Given the description of an element on the screen output the (x, y) to click on. 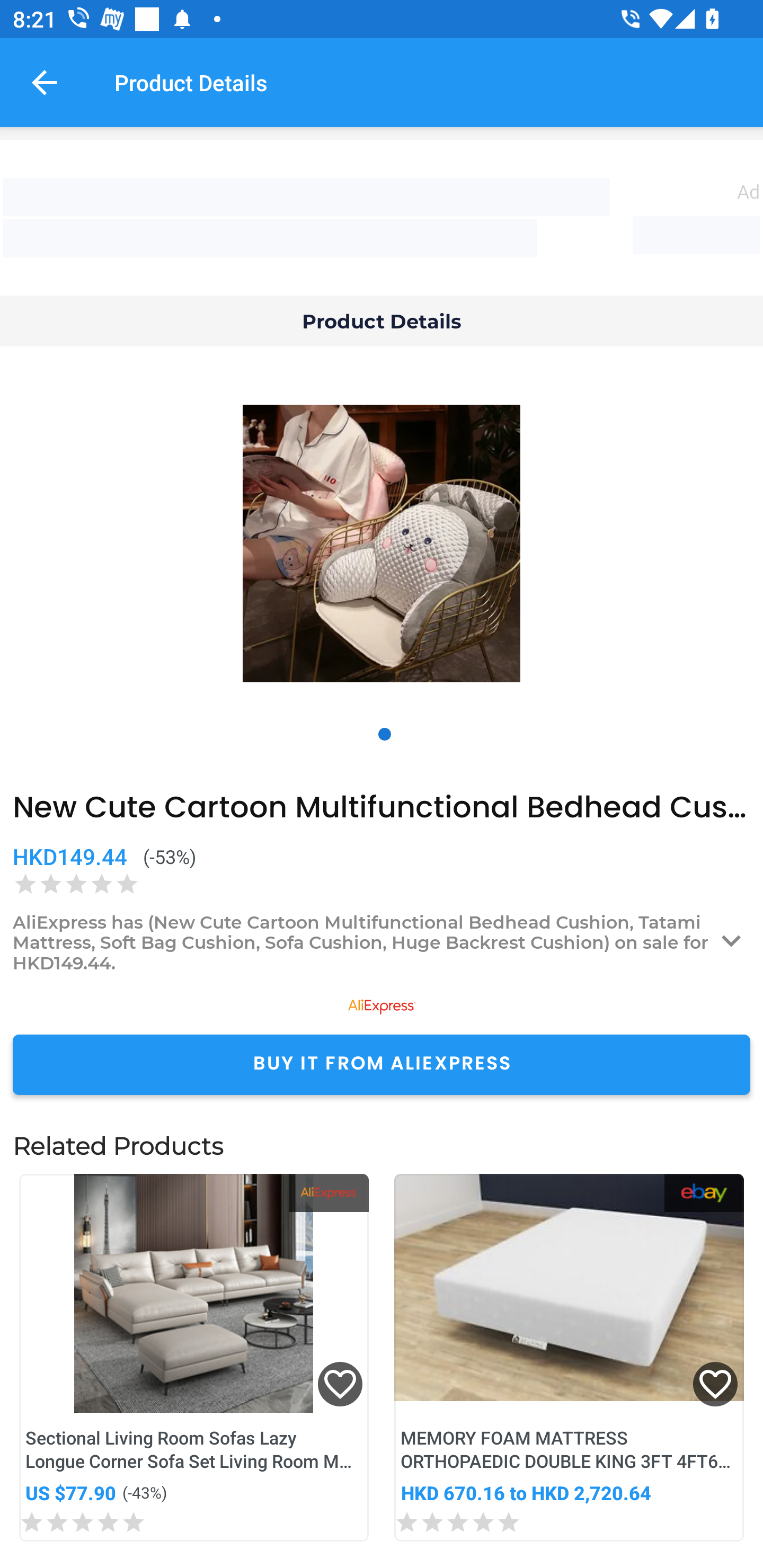
Navigate up (44, 82)
BUY IT FROM ALIEXPRESS (381, 1064)
